Given the description of an element on the screen output the (x, y) to click on. 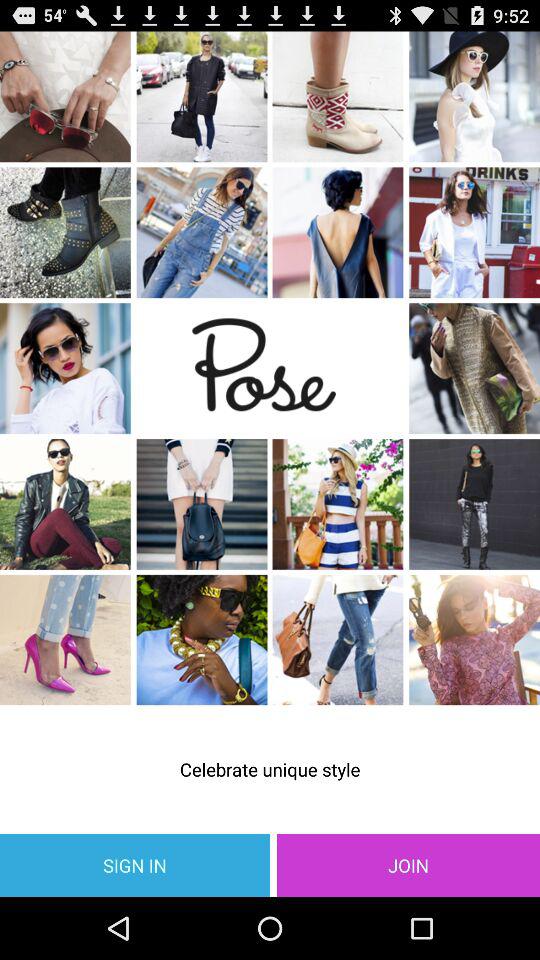
launch item to the left of join icon (135, 864)
